Given the description of an element on the screen output the (x, y) to click on. 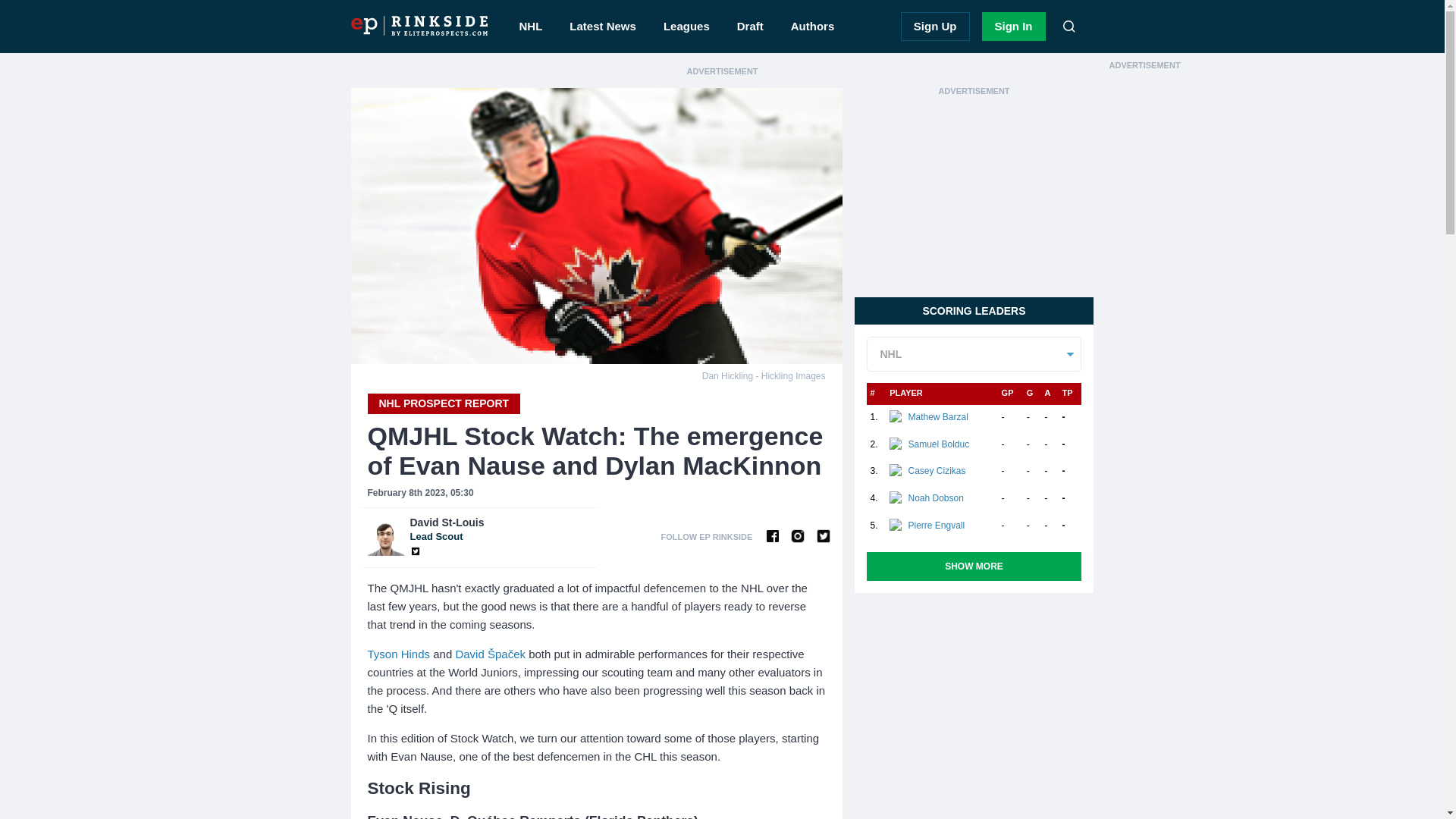
Authors (812, 26)
Tyson Hinds (397, 653)
eprinkside.com (418, 26)
Leagues (686, 26)
NHL PROSPECT REPORT (442, 403)
Latest News (602, 26)
Sign Up (935, 26)
Draft (750, 26)
Sign In (499, 529)
NHL (1013, 26)
